Given the description of an element on the screen output the (x, y) to click on. 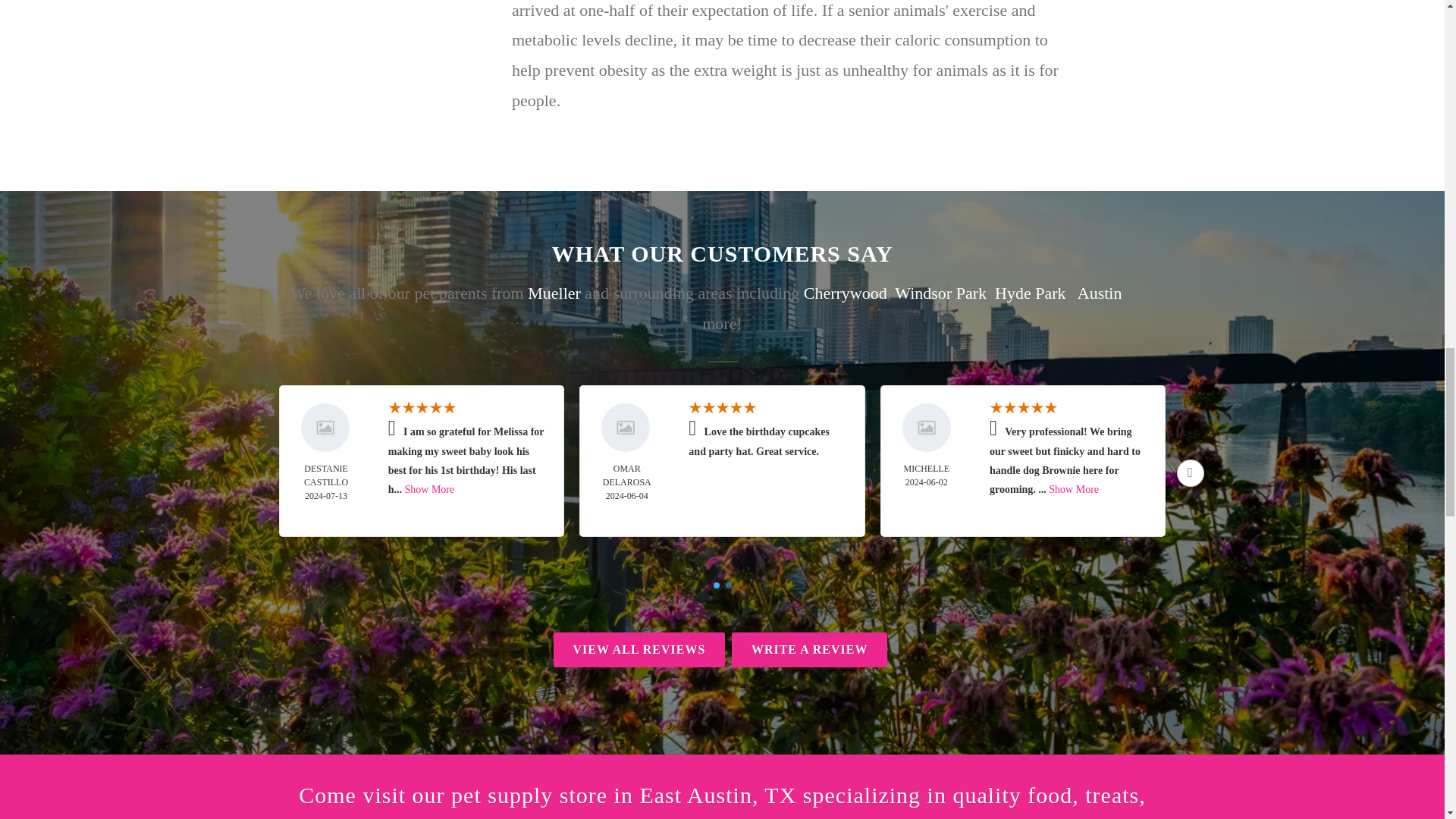
Get Directions From Hyde Park (1029, 292)
Mueller (553, 292)
Cherrywood (844, 292)
Get Directions From Mueller (553, 292)
Get Directions From Cherrywood (844, 292)
Get Directions From Windsor Park (941, 292)
